Given the description of an element on the screen output the (x, y) to click on. 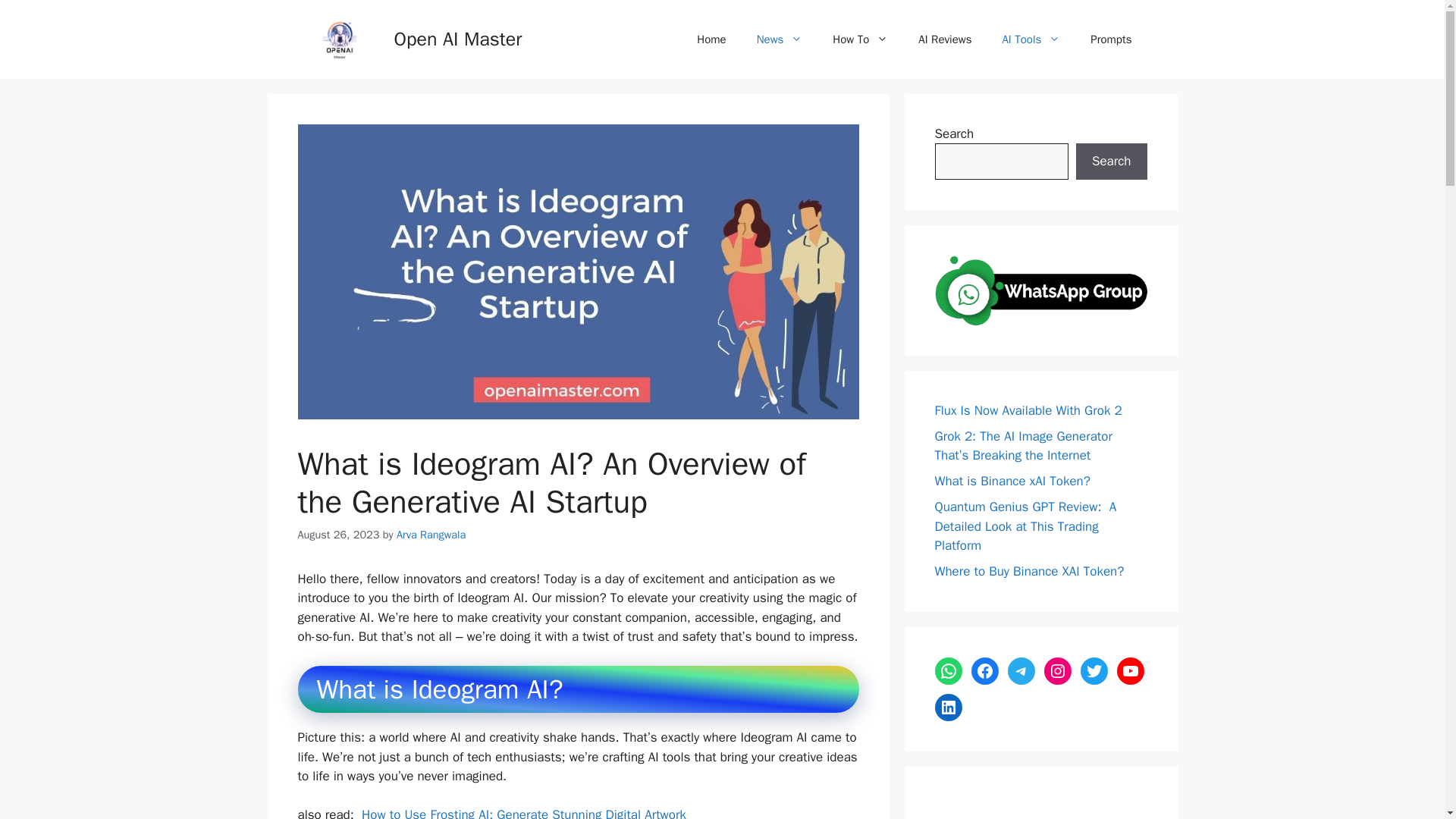
WhatsApp (947, 670)
Where to Buy Binance XAI Token? (1029, 571)
Instagram (1056, 670)
Arva Rangwala (430, 534)
Flux Is Now Available With Grok 2 (1027, 410)
How To (859, 39)
AI Reviews (944, 39)
 How to Use Frosting AI: Generate Stunning Digital Artwork (521, 812)
Prompts (1111, 39)
Telegram (1020, 670)
